Given the description of an element on the screen output the (x, y) to click on. 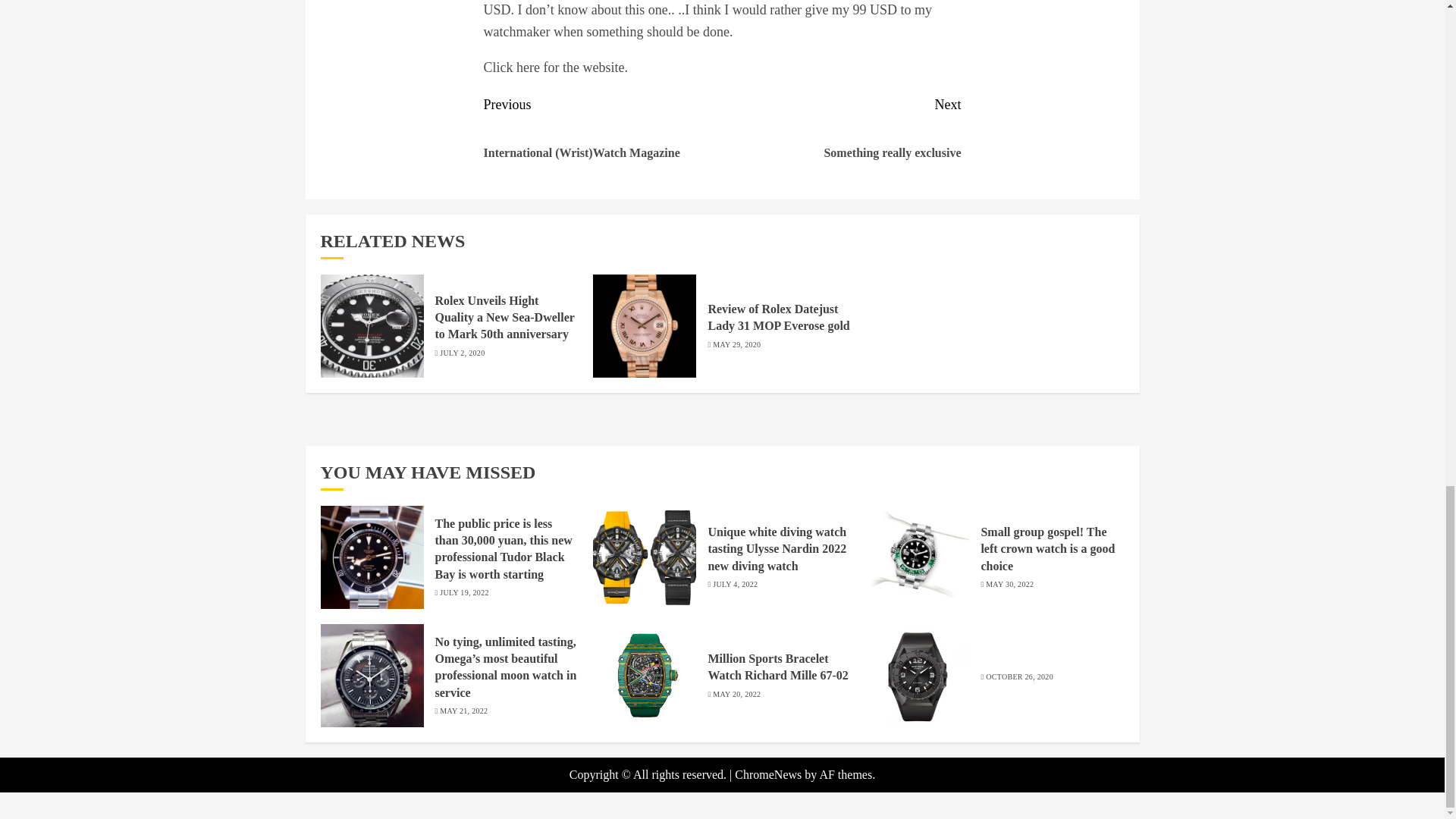
MAY 29, 2020 (841, 139)
MAY 21, 2022 (736, 344)
JULY 19, 2022 (463, 710)
JULY 4, 2022 (463, 593)
Million Sports Bracelet Watch Richard Mille 67-02 (735, 584)
MAY 30, 2022 (777, 666)
Review of Rolex Datejust Lady 31 MOP Everose gold (1009, 584)
Small group gospel! The left crown watch is a good choice (777, 317)
JULY 2, 2020 (1047, 549)
MAY 20, 2022 (461, 353)
OCTOBER 26, 2020 (736, 694)
